Given the description of an element on the screen output the (x, y) to click on. 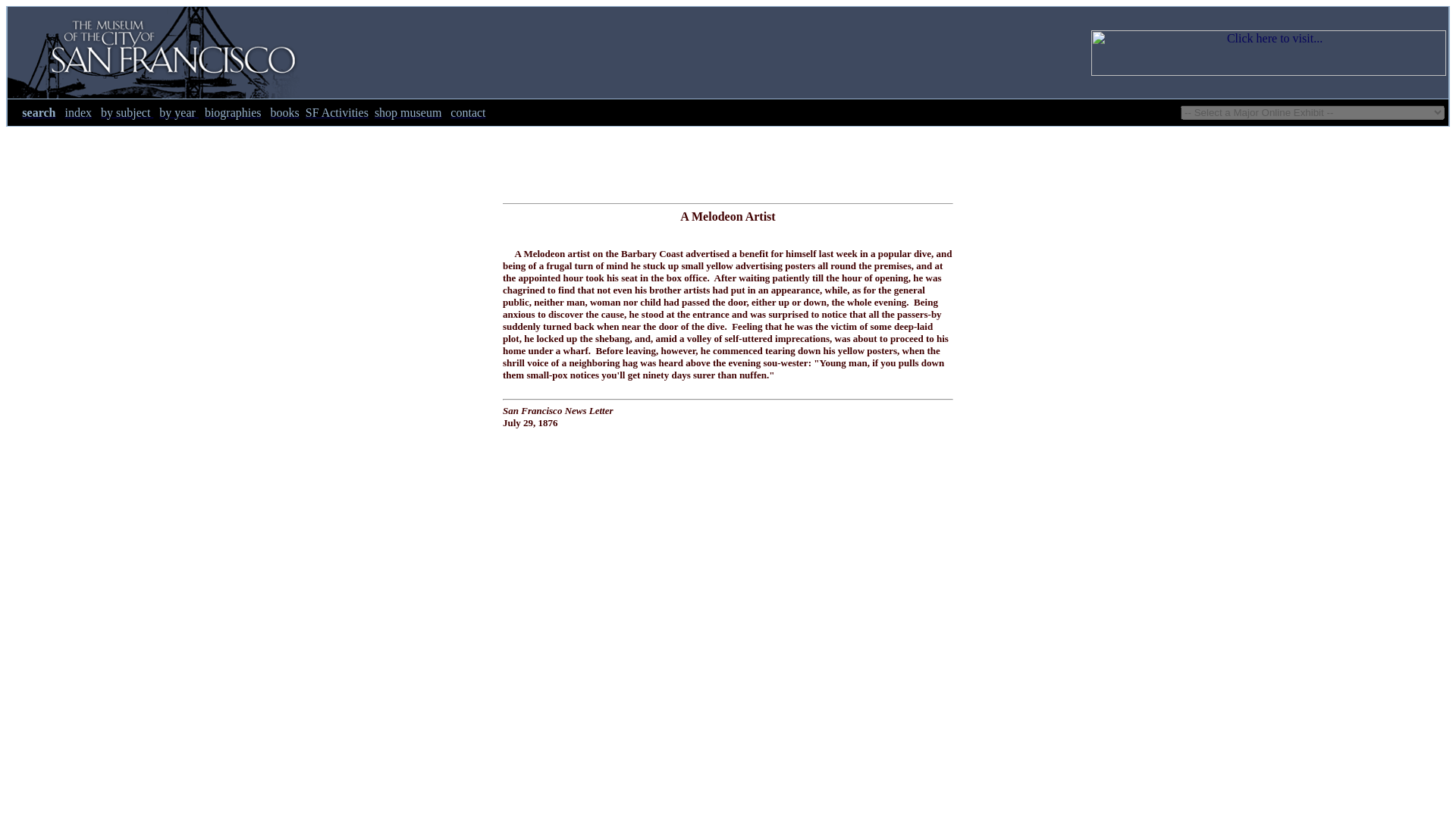
by year (178, 112)
search (38, 112)
shop museum (407, 112)
index (77, 112)
contact (466, 112)
biographies (233, 112)
SF Activities (336, 112)
books (284, 112)
by subject (126, 112)
